Given the description of an element on the screen output the (x, y) to click on. 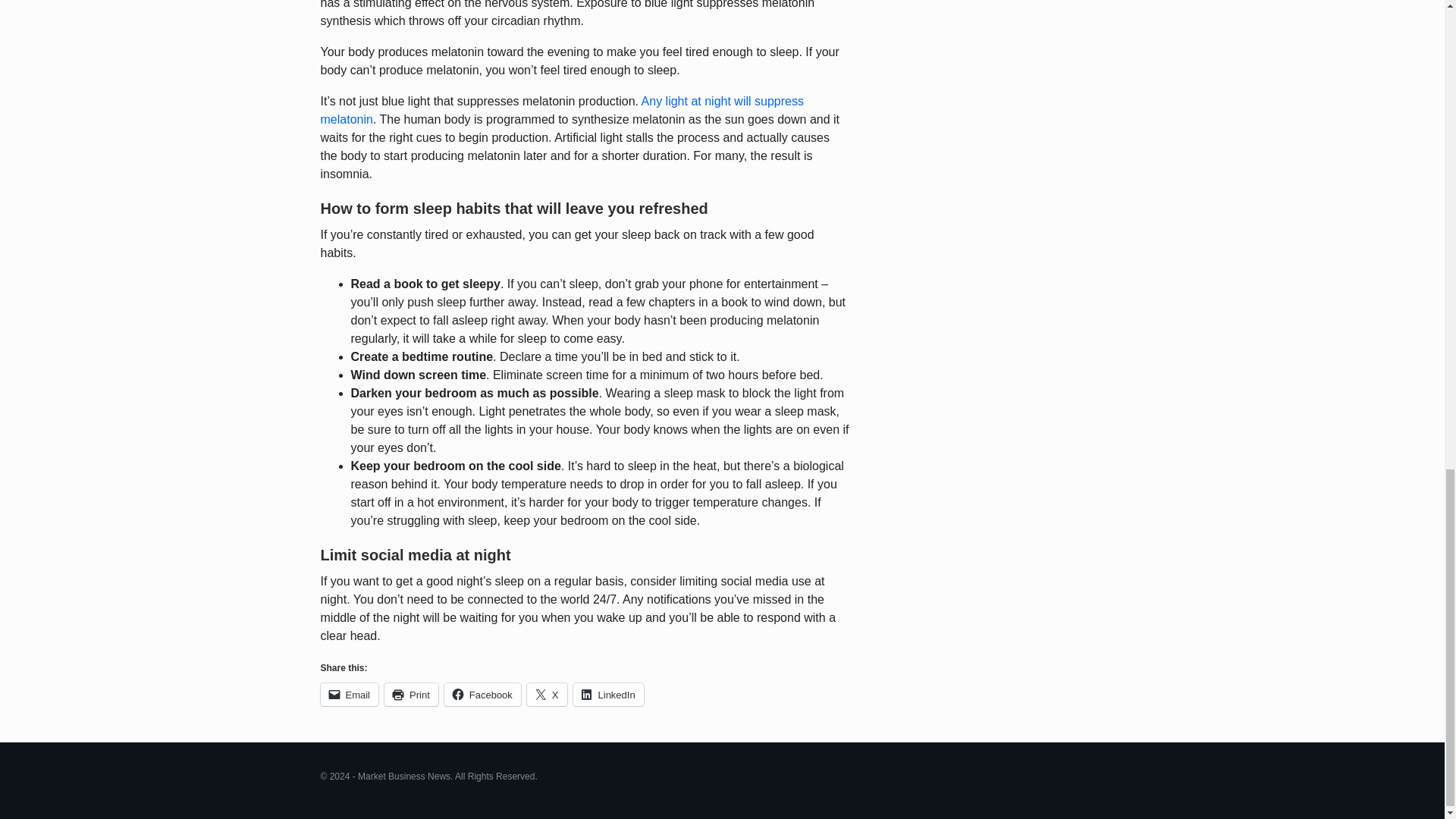
Click to email a link to a friend (349, 694)
Click to share on LinkedIn (608, 694)
Click to print (411, 694)
X (547, 694)
LinkedIn (608, 694)
Click to share on Facebook (482, 694)
Facebook (482, 694)
Click to share on X (547, 694)
Any light at night will suppress melatonin (561, 110)
Email (349, 694)
Print (411, 694)
